Given the description of an element on the screen output the (x, y) to click on. 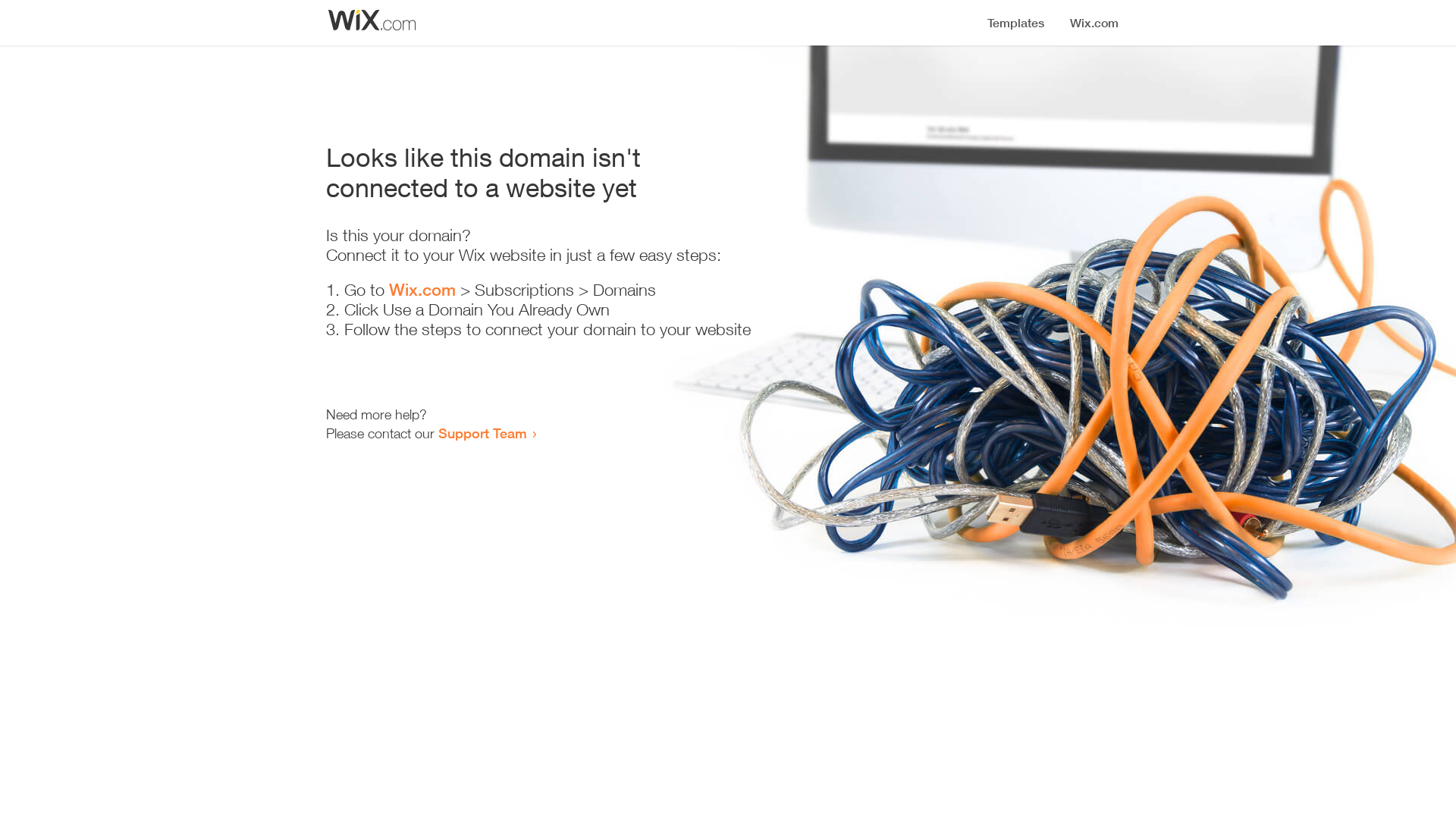
Support Team Element type: text (482, 432)
Wix.com Element type: text (422, 289)
